Given the description of an element on the screen output the (x, y) to click on. 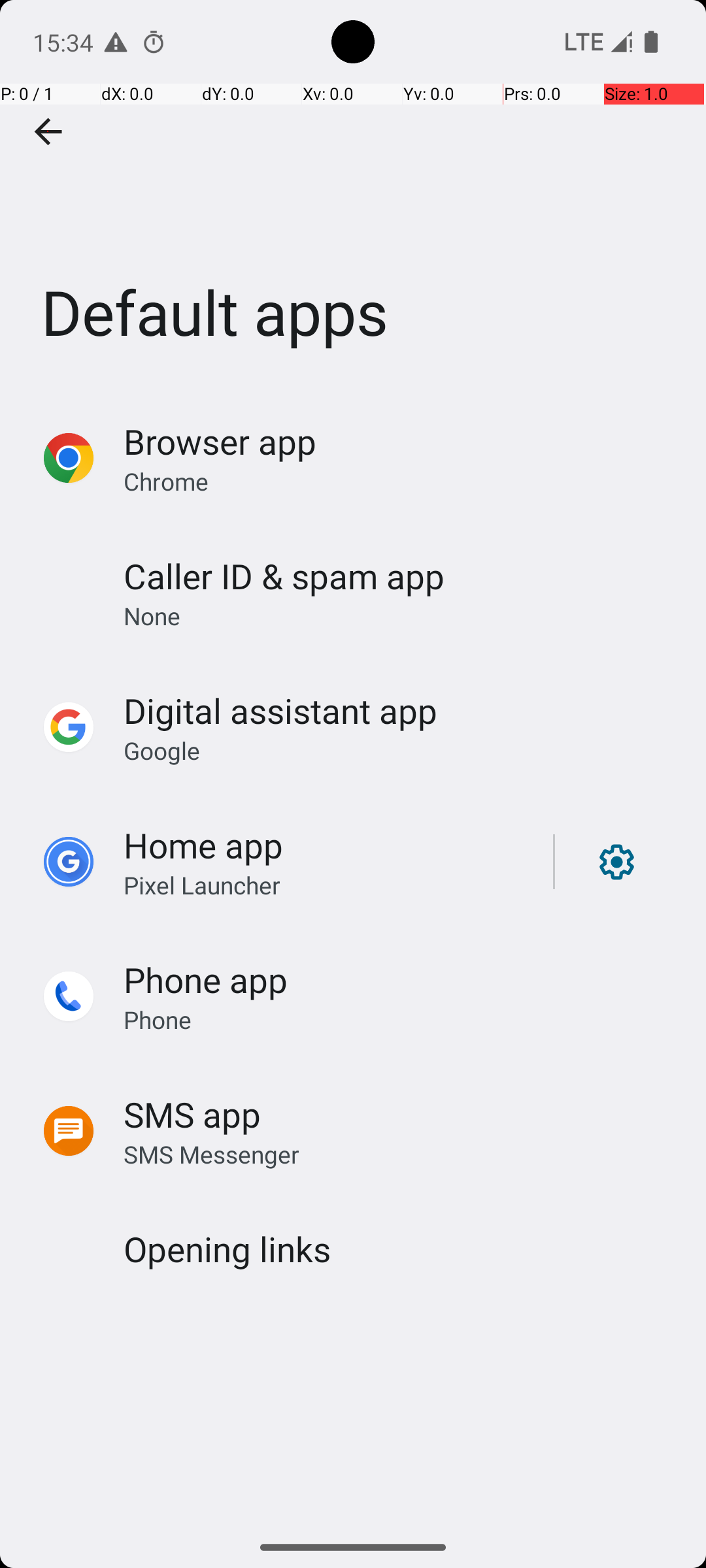
Default apps Element type: android.widget.FrameLayout (353, 195)
Browser app Element type: android.widget.TextView (220, 441)
Caller ID & spam app Element type: android.widget.TextView (283, 575)
Digital assistant app Element type: android.widget.TextView (280, 710)
Google Element type: android.widget.TextView (161, 750)
Home app Element type: android.widget.TextView (203, 844)
Pixel Launcher Element type: android.widget.TextView (201, 884)
Phone app Element type: android.widget.TextView (205, 979)
SMS app Element type: android.widget.TextView (191, 1114)
Opening links Element type: android.widget.TextView (226, 1248)
